Given the description of an element on the screen output the (x, y) to click on. 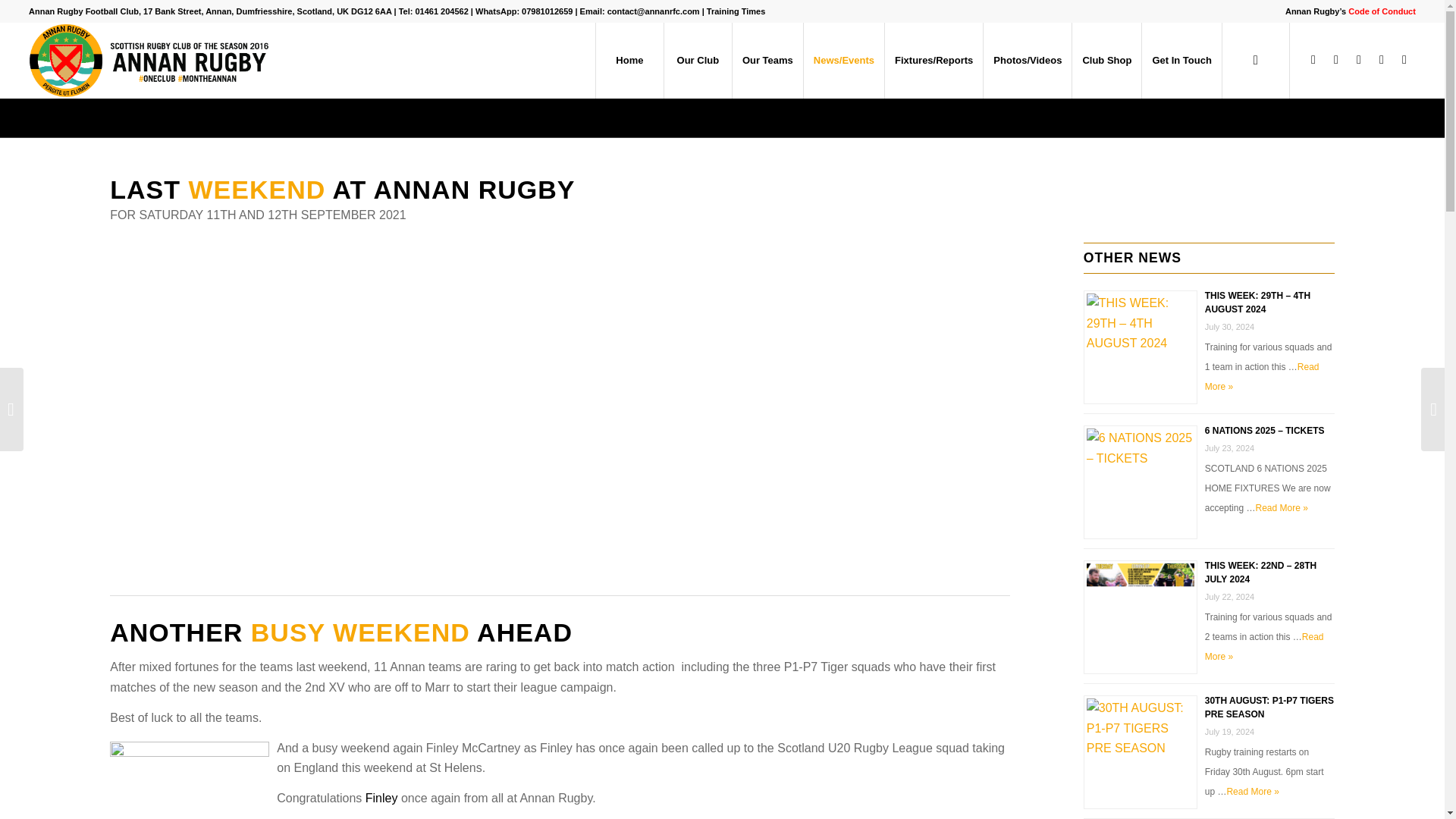
Twitter (1336, 59)
Flickr (1359, 59)
01461 204562 (440, 10)
Mail (1404, 59)
Our Club (697, 60)
07981012659 (546, 10)
Home (629, 60)
Facebook (1312, 59)
Our Teams (767, 60)
Vimeo (1381, 59)
header2022 (152, 60)
Training Times (735, 10)
